Given the description of an element on the screen output the (x, y) to click on. 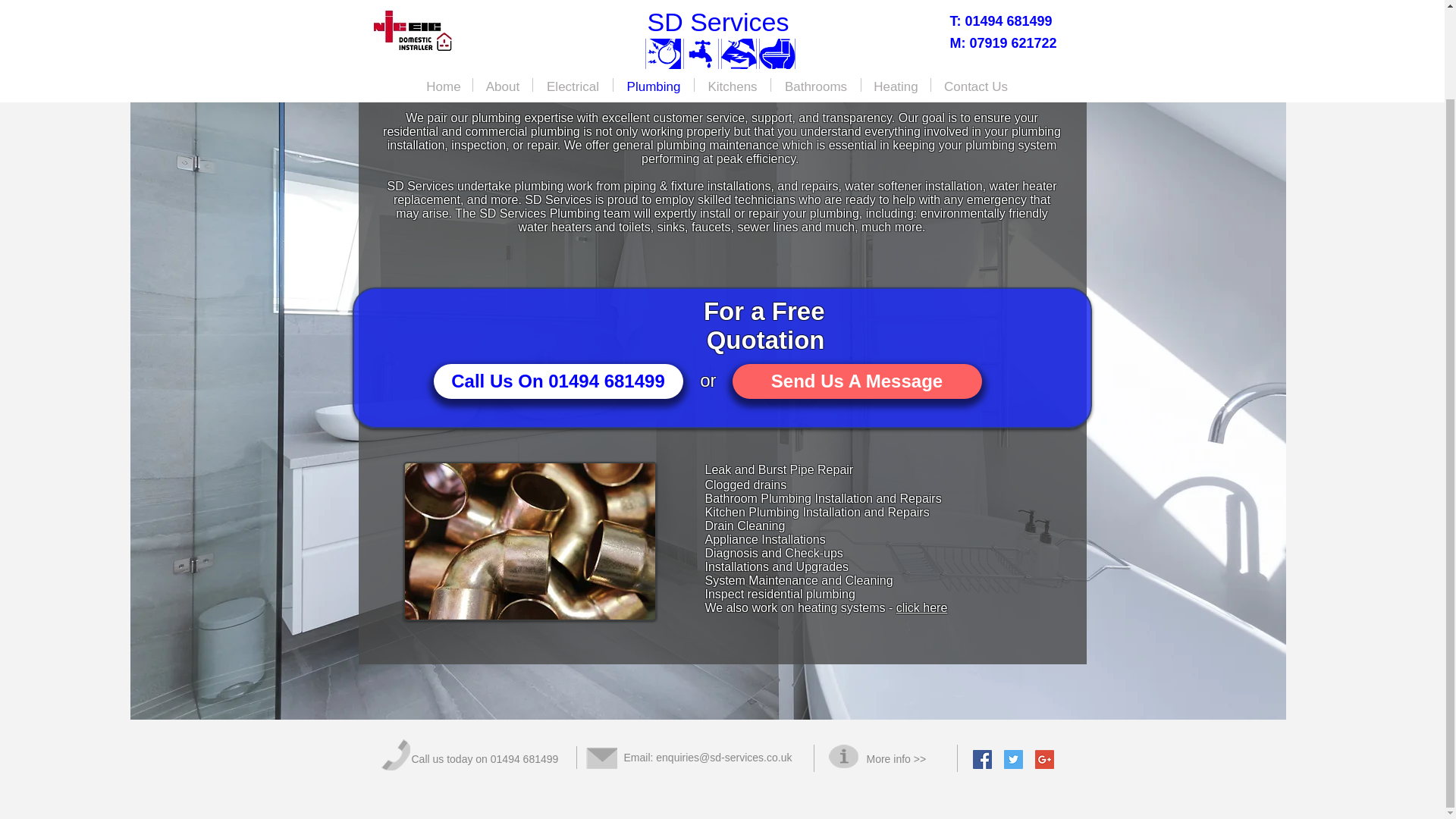
Call Us On 01494 681499 (557, 380)
click here (921, 607)
Send Us A Message (856, 380)
